Given the description of an element on the screen output the (x, y) to click on. 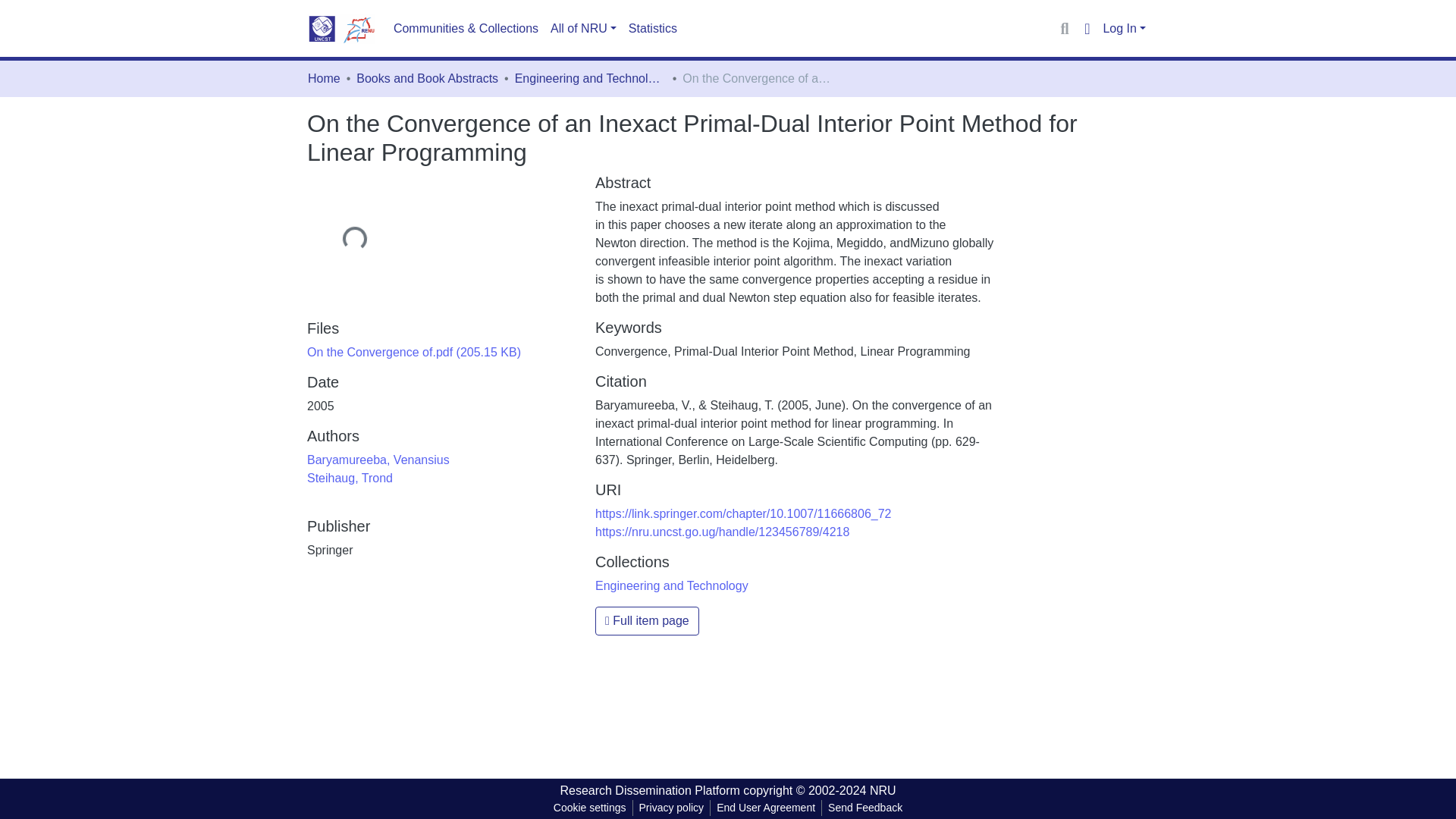
Language switch (1086, 28)
End User Agreement (765, 807)
Engineering and Technology (671, 585)
Privacy policy (671, 807)
Engineering and Technology (590, 78)
Log In (1123, 28)
Home (323, 78)
Send Feedback (865, 807)
Cookie settings (589, 807)
Baryamureeba, Venansius (378, 459)
